Given the description of an element on the screen output the (x, y) to click on. 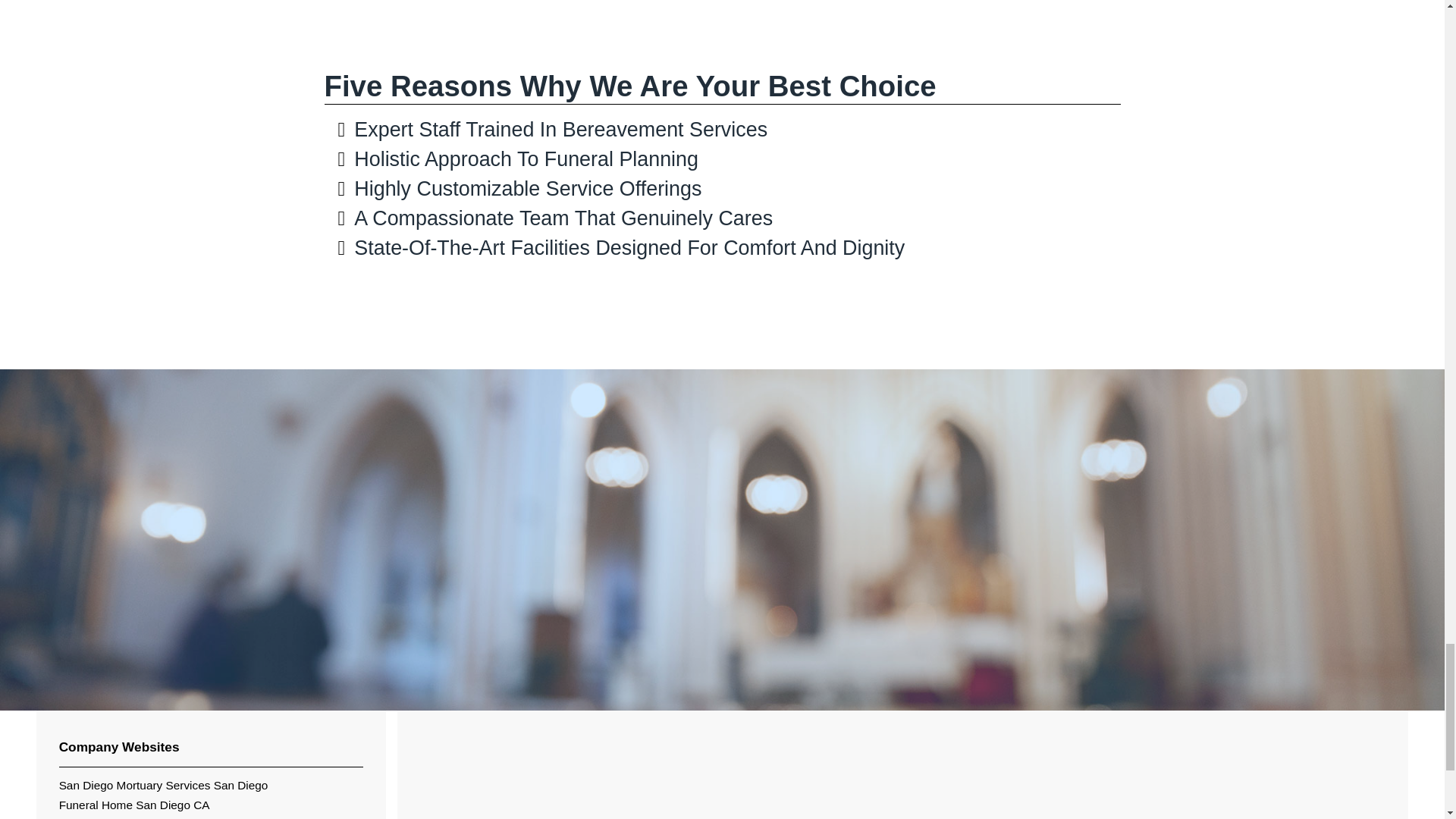
San Diego Mortuary Services San Diego (163, 784)
Funeral Home San Diego CA (134, 804)
